Given the description of an element on the screen output the (x, y) to click on. 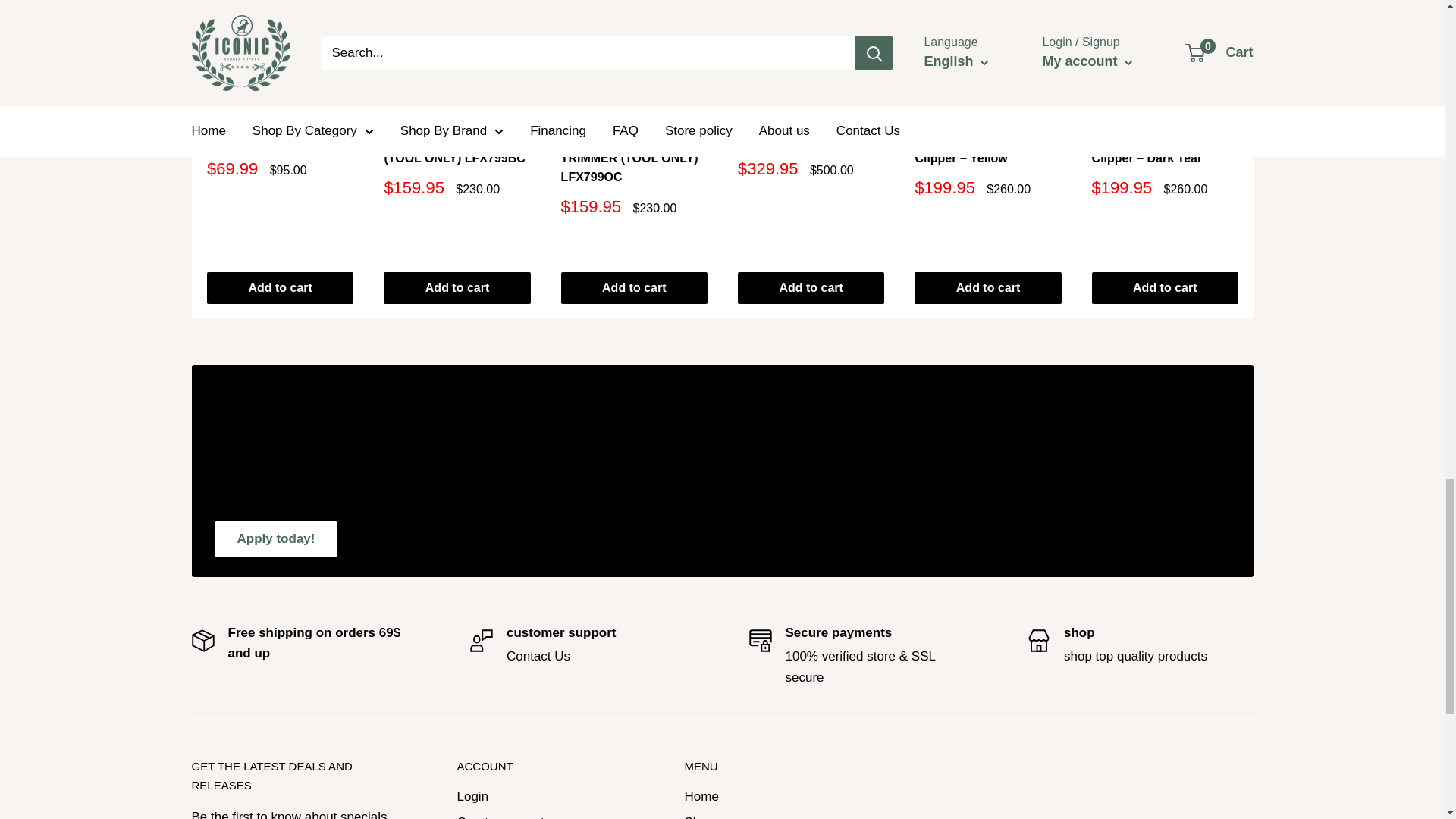
Contact Us (538, 656)
